Given the description of an element on the screen output the (x, y) to click on. 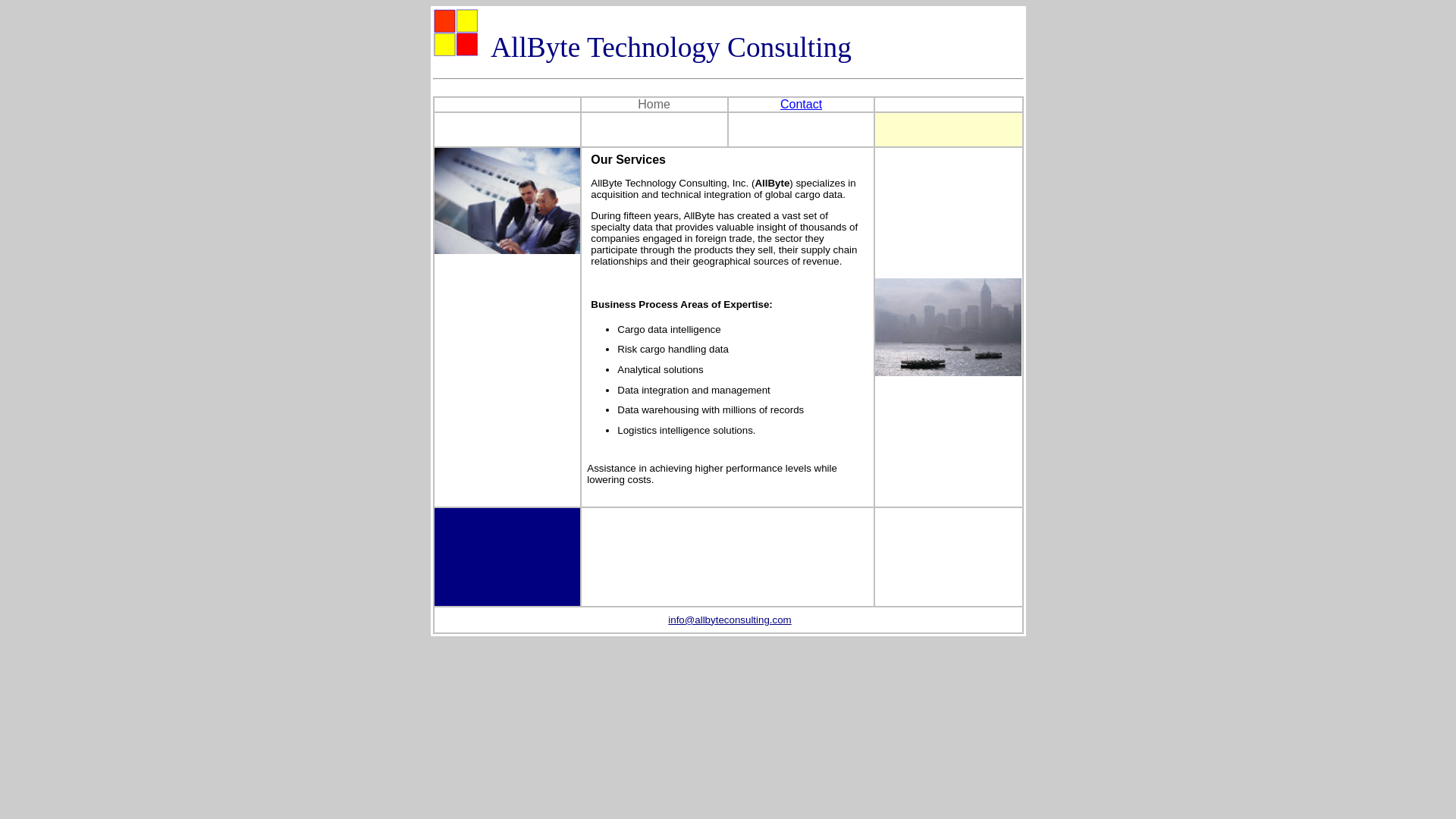
Contact (801, 103)
